Given the description of an element on the screen output the (x, y) to click on. 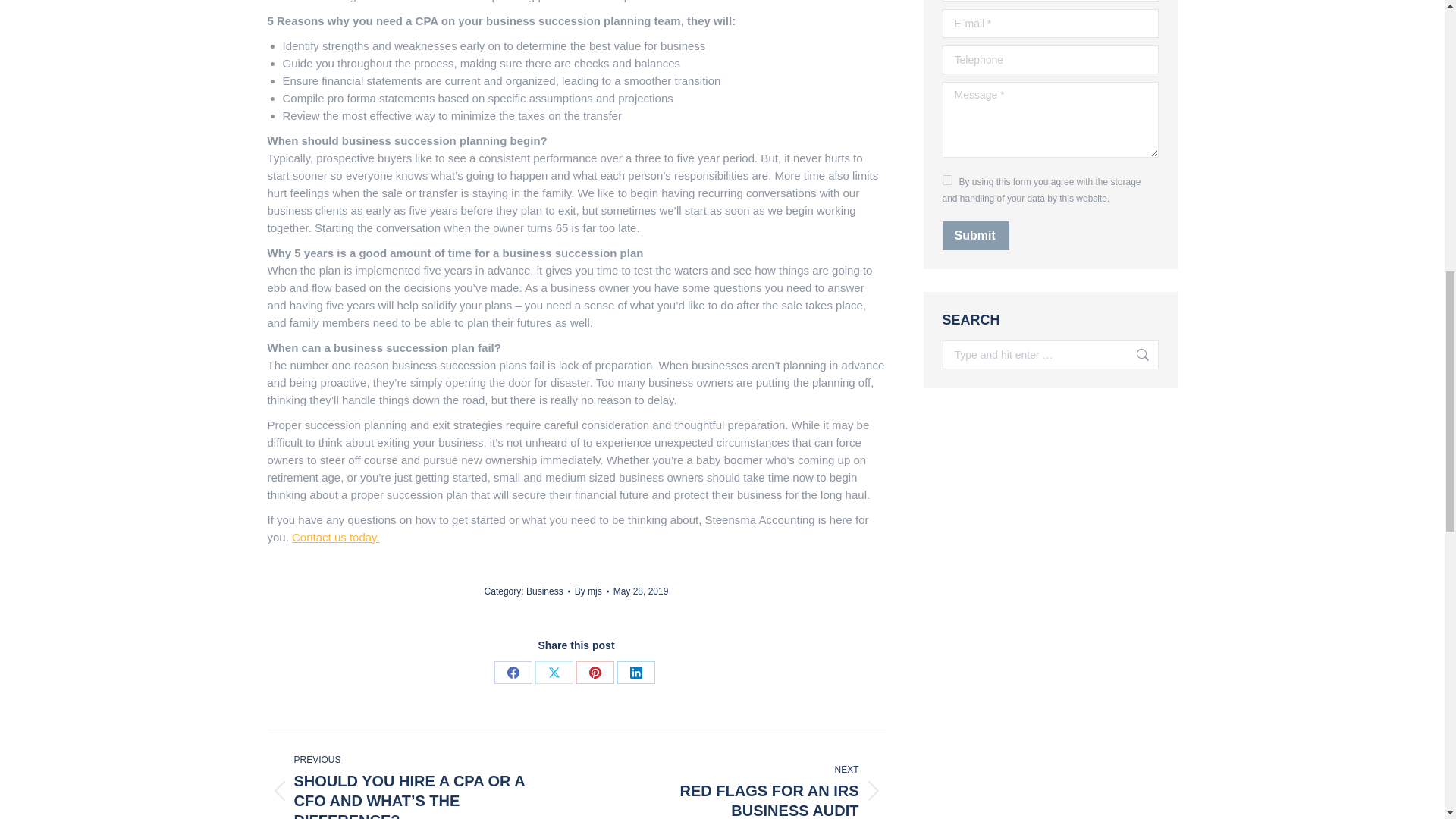
Share on Pinterest (595, 671)
LinkedIn (636, 671)
Facebook (513, 671)
May 28, 2019 (640, 590)
Go! (741, 785)
Pinterest (1135, 354)
View all posts by mjs (595, 671)
Business (591, 590)
Go! (544, 590)
X (1135, 354)
Share on Facebook (554, 671)
Contact us today. (513, 671)
on (336, 536)
By mjs (947, 180)
